Given the description of an element on the screen output the (x, y) to click on. 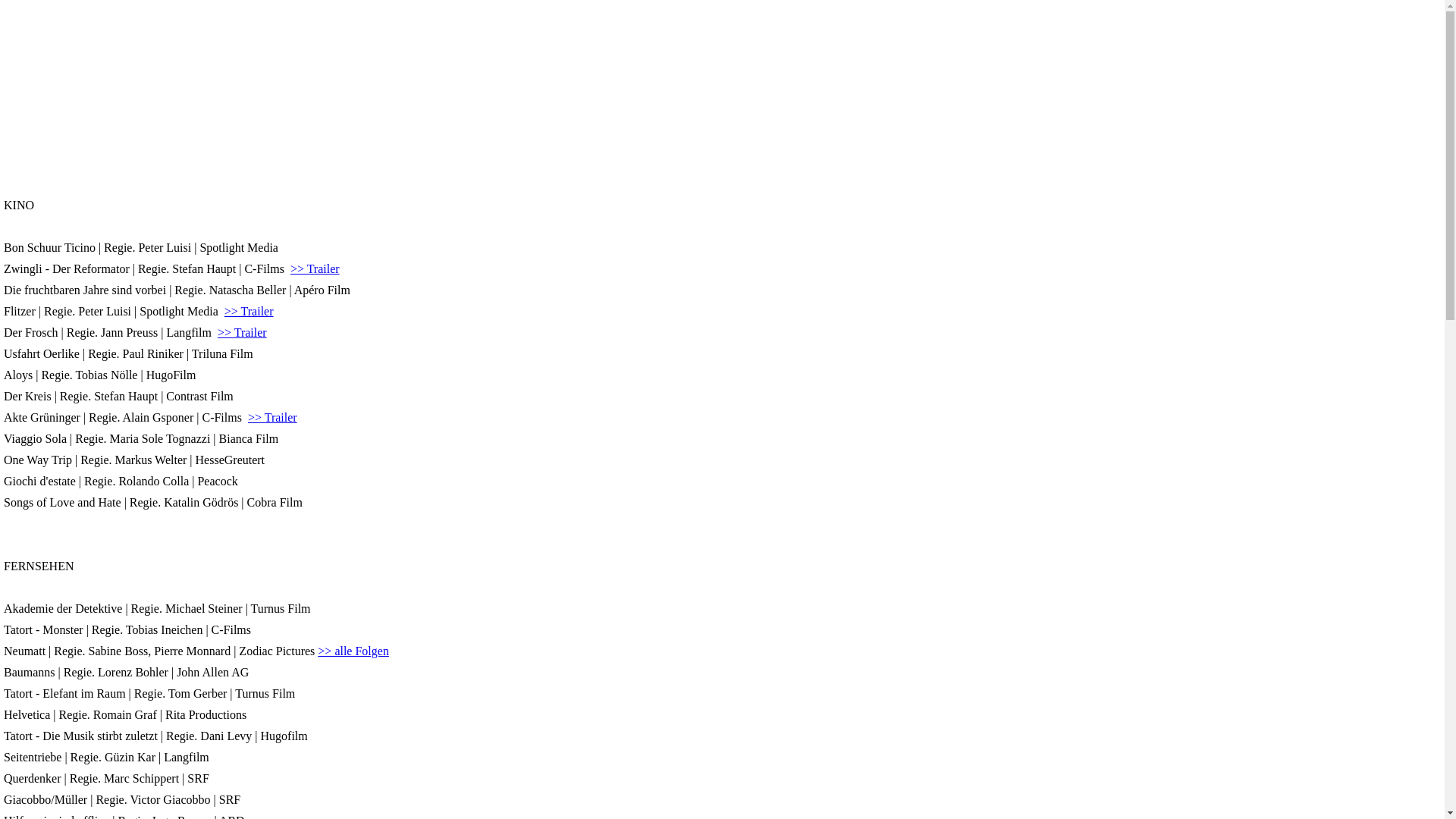
>> Trailer Element type: text (248, 310)
>> Trailer Element type: text (241, 332)
>> Trailer Element type: text (272, 417)
>> alle Folgen Element type: text (353, 650)
>> Trailer Element type: text (314, 268)
